Given the description of an element on the screen output the (x, y) to click on. 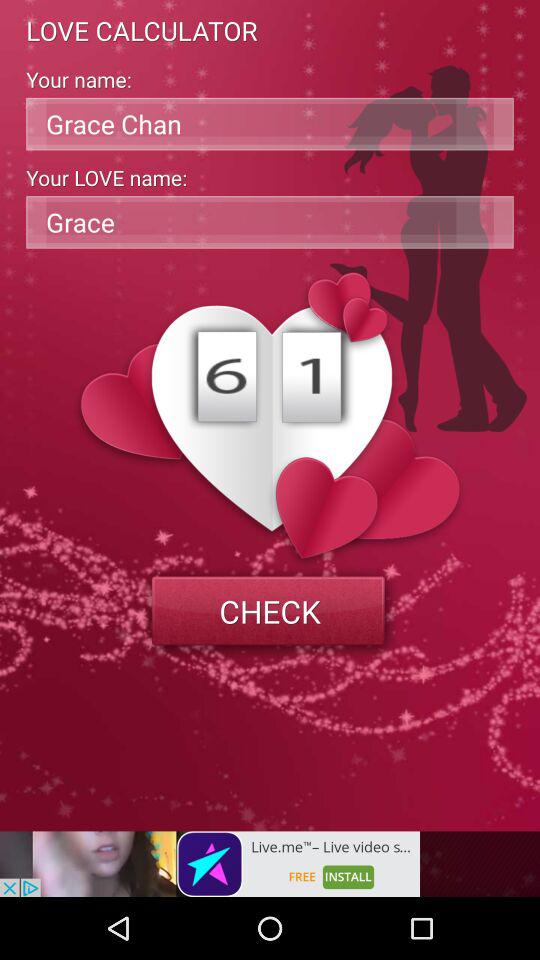
go to advertisement (210, 864)
